Given the description of an element on the screen output the (x, y) to click on. 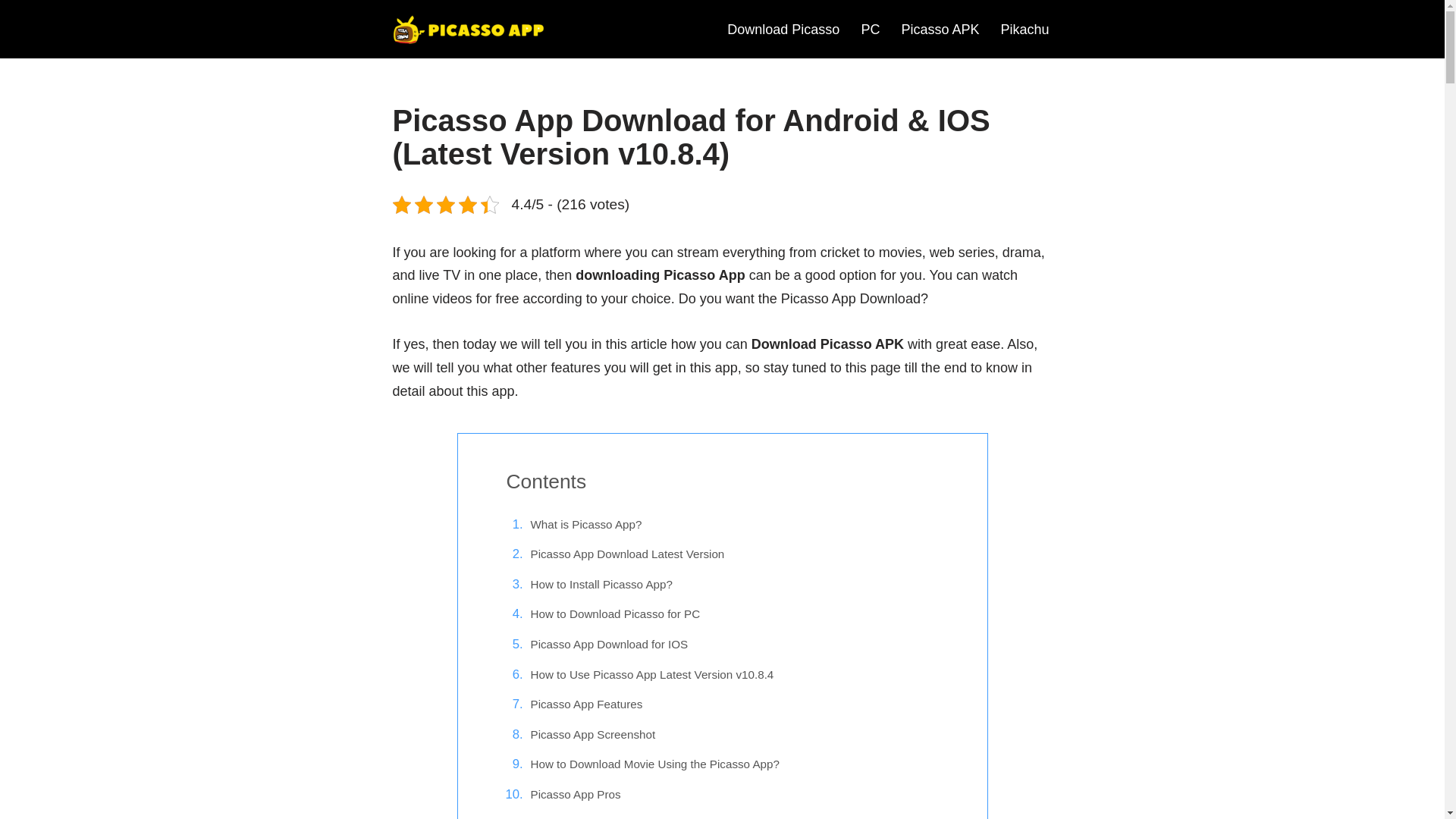
Picasso App Download Latest Version (628, 554)
How to Download Picasso for PC (615, 614)
Picasso App Screenshot (593, 734)
Pikachu (1024, 29)
Picasso App Download for IOS (609, 644)
How to Use Picasso App Latest Version v10.8.4 (652, 674)
Picasso App Cons (577, 816)
Picasso App Features (587, 704)
How to Install Picasso App? (601, 584)
Picasso APK (939, 29)
Download Picasso (783, 29)
Skip to content (11, 31)
How to Download Movie Using the Picasso App? (654, 764)
PC (869, 29)
